Given the description of an element on the screen output the (x, y) to click on. 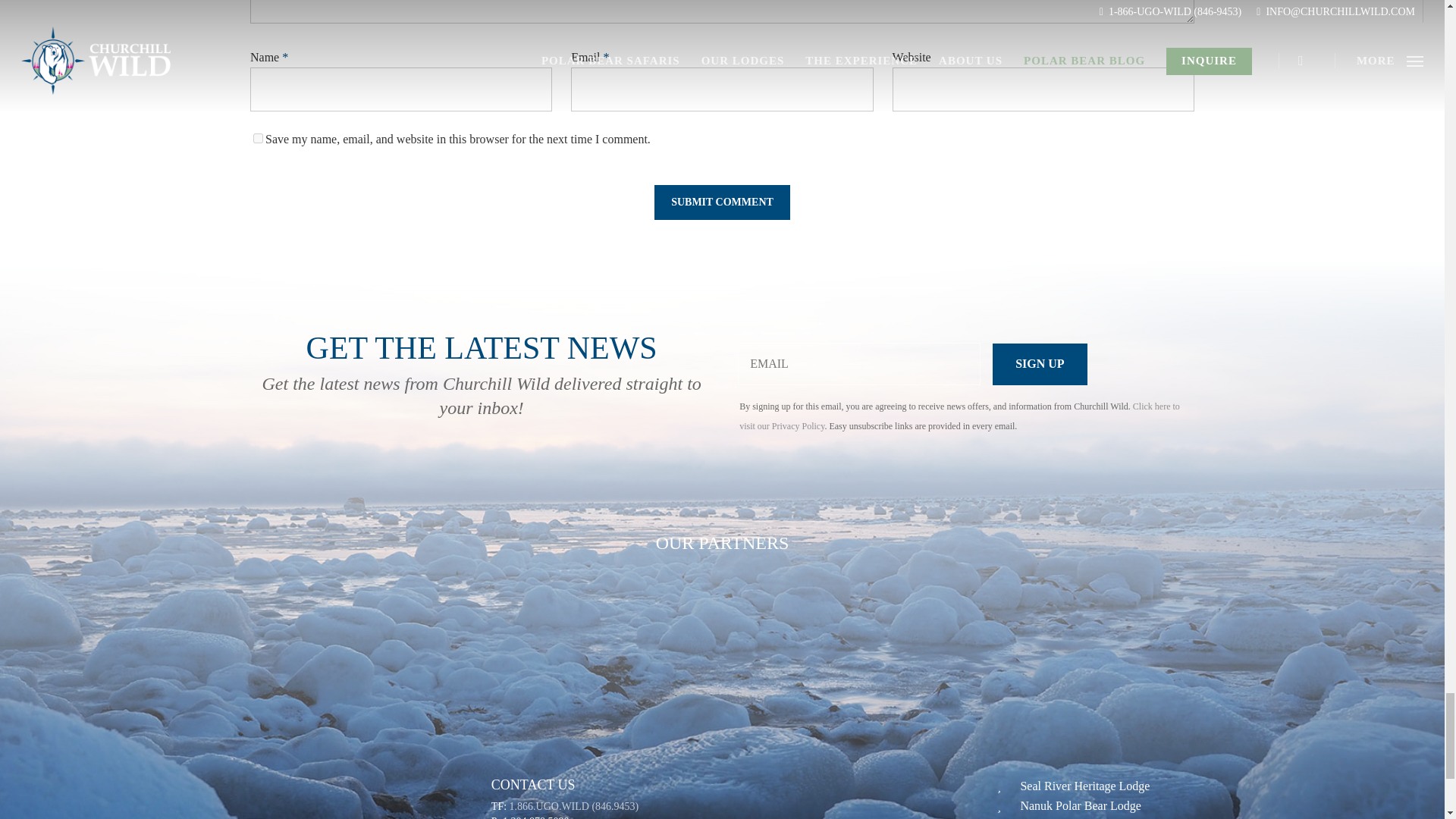
Sign Up (1039, 363)
yes (258, 138)
Submit Comment (721, 202)
